Given the description of an element on the screen output the (x, y) to click on. 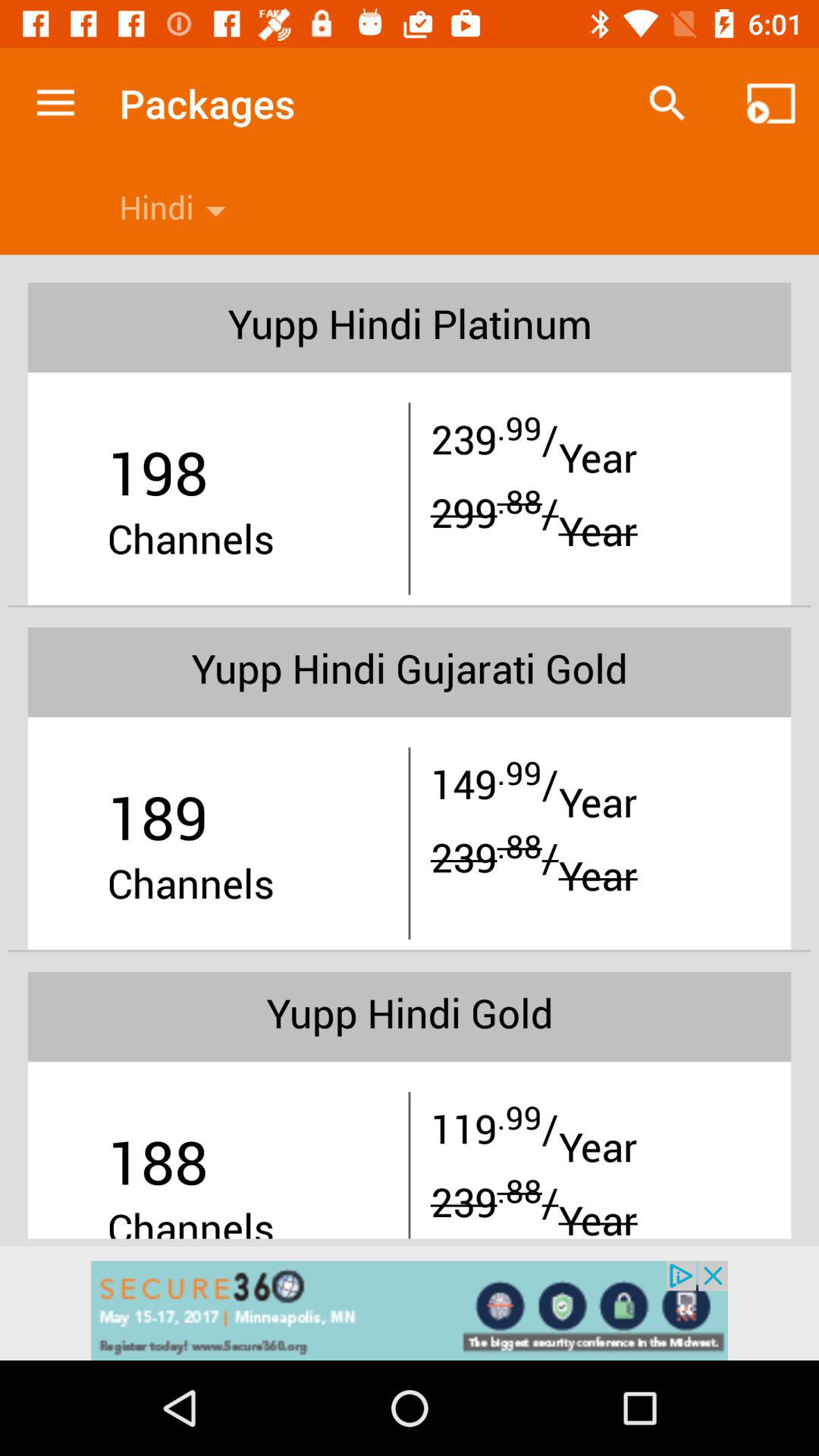
go to advertisement link (409, 1310)
